Given the description of an element on the screen output the (x, y) to click on. 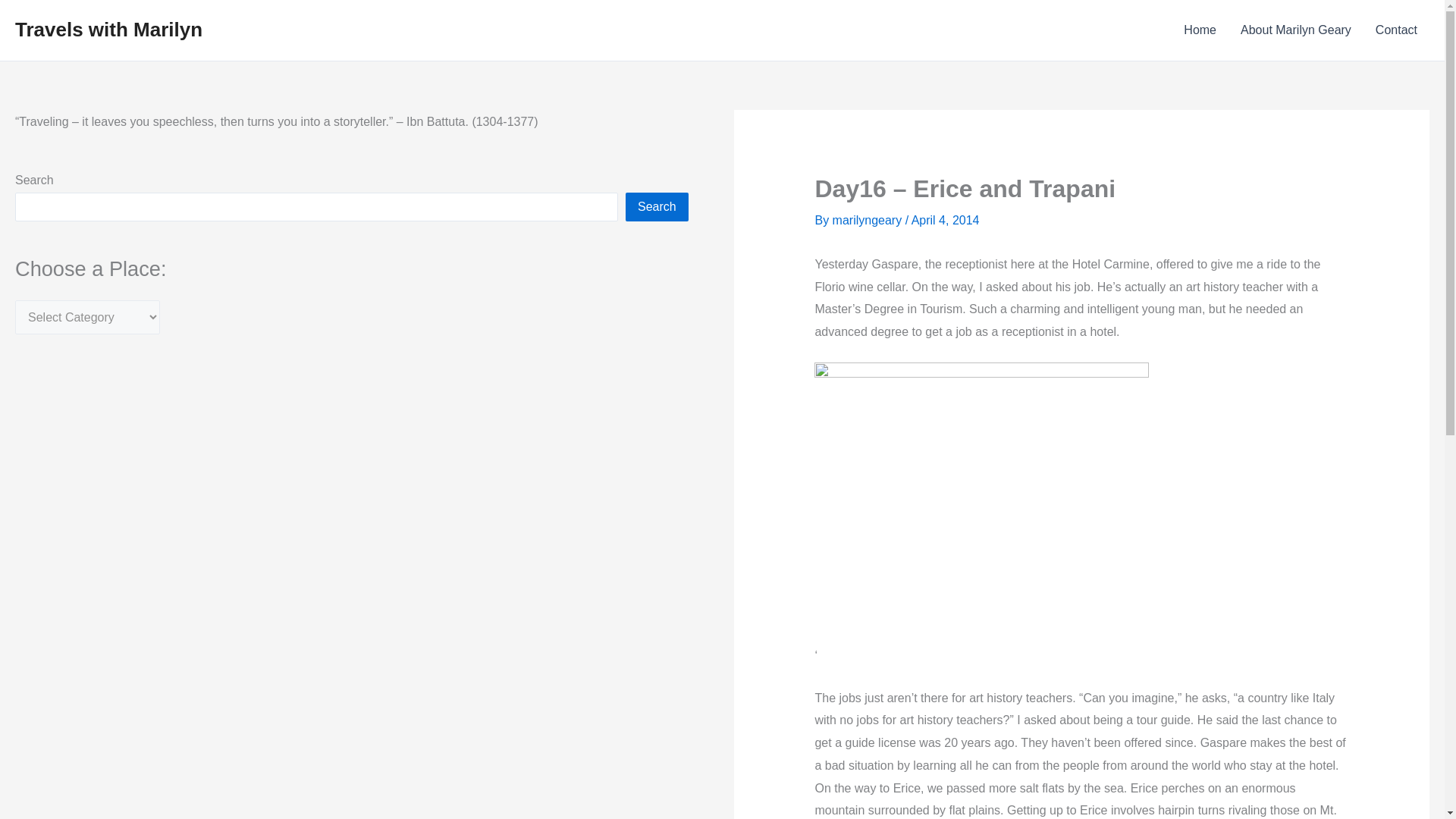
Contact (1395, 30)
View all posts by marilyngeary (868, 219)
marilyngeary (868, 219)
Travels with Marilyn (108, 29)
Home (1200, 30)
Search (657, 206)
About Marilyn Geary (1295, 30)
